Given the description of an element on the screen output the (x, y) to click on. 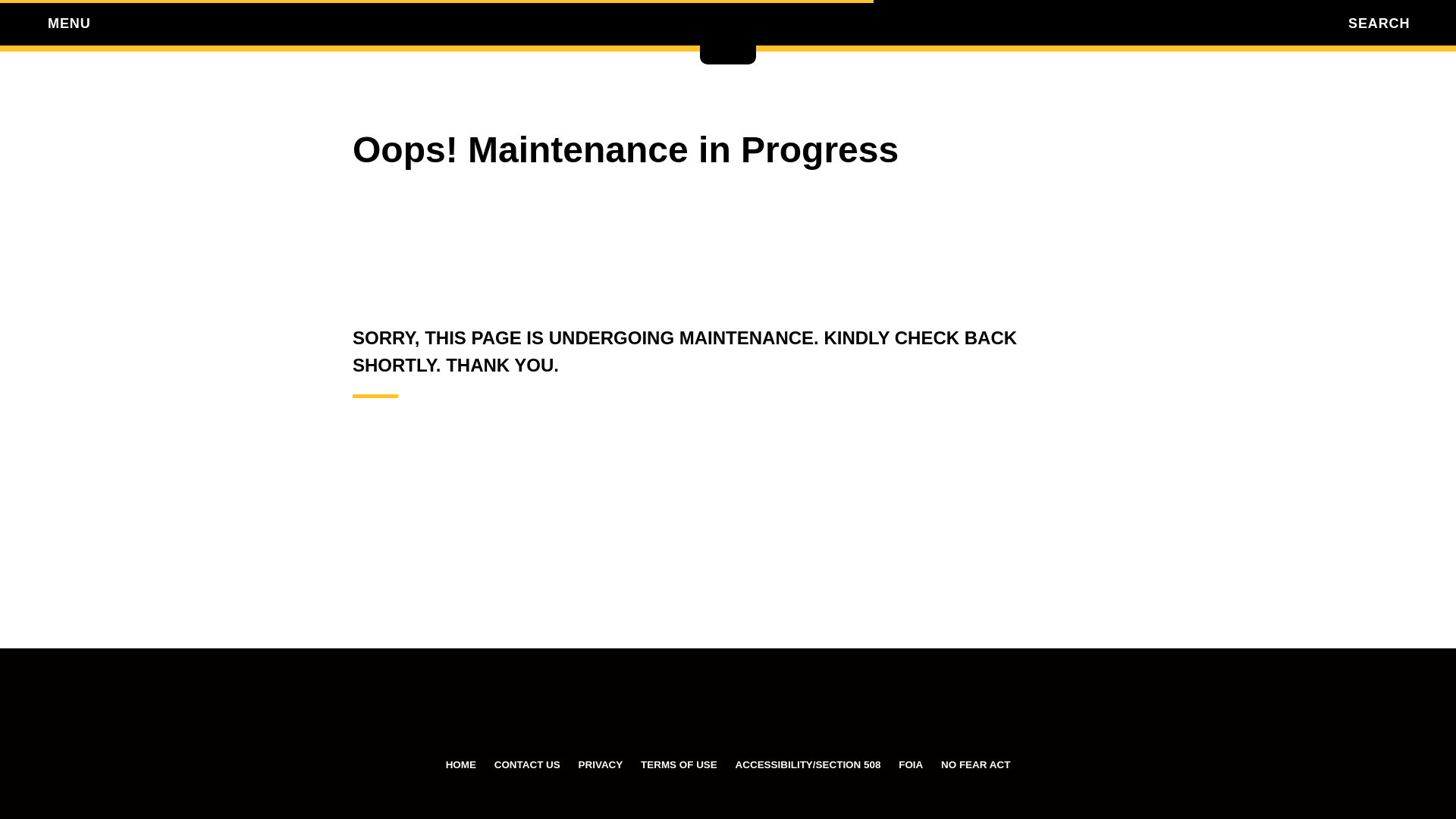
Official U.S. Army Twitter Element type: text (672, 716)
Official U.S. Army Youtube Element type: text (728, 716)
TERMS OF USE Element type: text (678, 764)
MENU Element type: text (24, 22)
Official U.S. Army Flickr Element type: text (783, 716)
CONTACT US Element type: text (527, 764)
Official U.S. Army Instagram Element type: text (839, 716)
HOME Element type: text (460, 764)
HOME Element type: text (727, 32)
FOIA Element type: text (910, 764)
ACCESSIBILITY/SECTION 508 Element type: text (808, 764)
PRIVACY Element type: text (600, 764)
NO FEAR ACT Element type: text (975, 764)
Official U.S. Army Facebook Element type: text (616, 716)
